Given the description of an element on the screen output the (x, y) to click on. 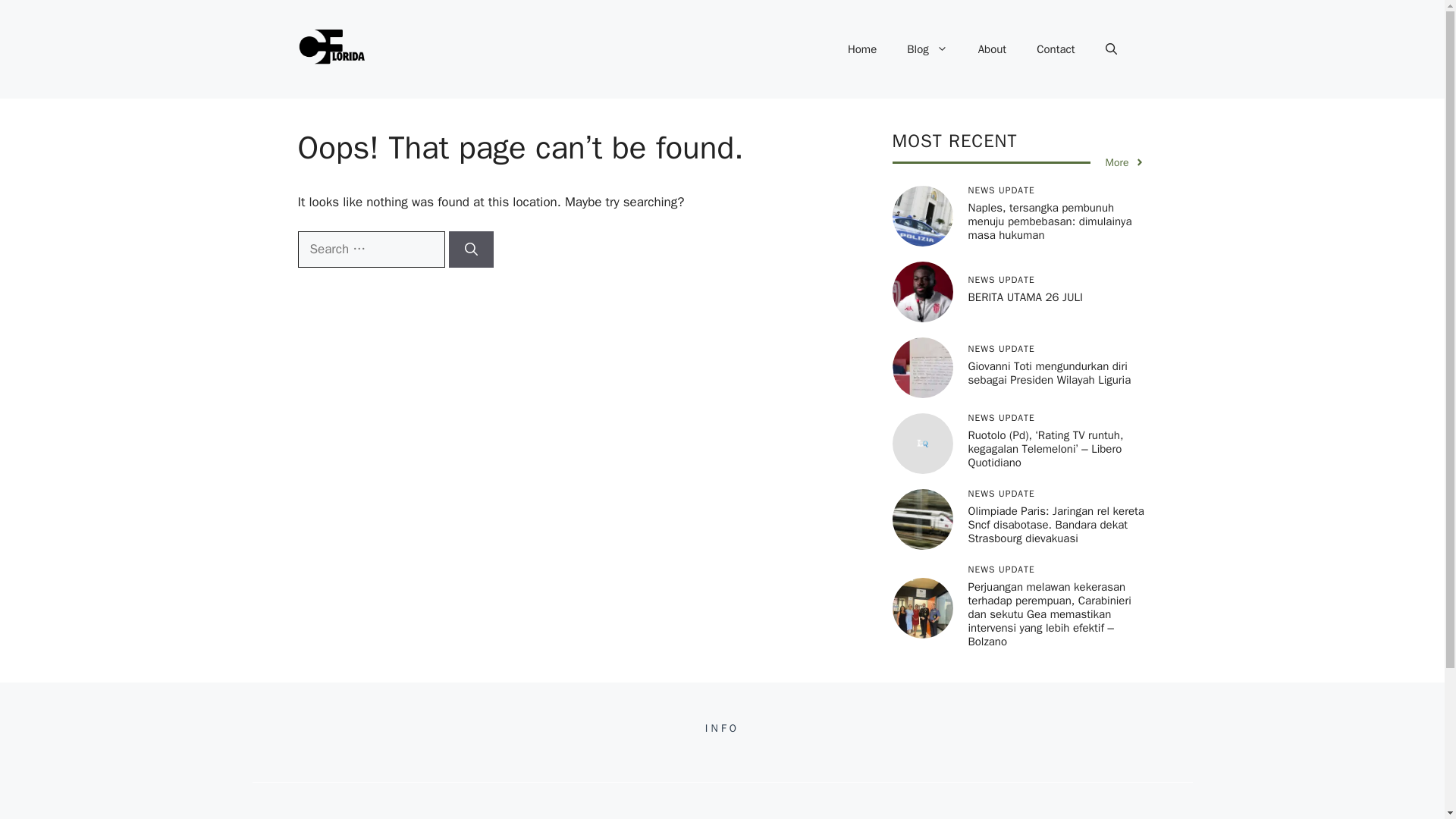
BERITA UTAMA 26 JULI (1024, 296)
Blog (926, 49)
Contact (1055, 49)
Search for: (370, 248)
Home (861, 49)
More (1124, 162)
About (992, 49)
